Given the description of an element on the screen output the (x, y) to click on. 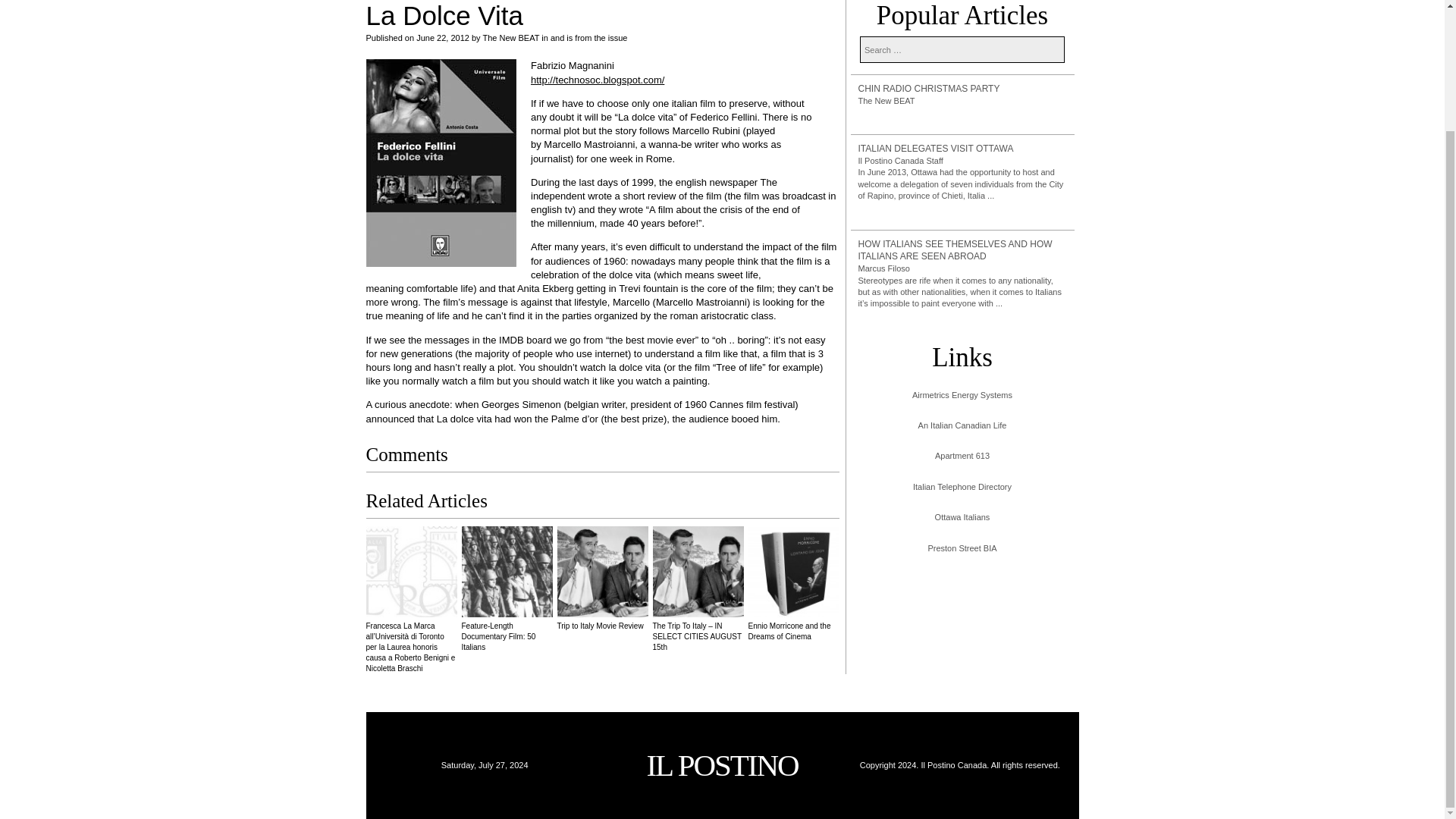
Airmetrics Energy Systems (962, 395)
ITALIAN DELEGATES VISIT OTTAWA (963, 148)
Apartment 613 (962, 455)
HOW ITALIANS SEE THEMSELVES AND HOW ITALIANS ARE SEEN ABROAD (963, 250)
Marcus Filoso (884, 267)
Preston Street BIA (962, 548)
La dolce vita (440, 162)
Feature-Length Documentary Film: 50 Italians (506, 588)
CHIN RADIO CHRISTMAS PARTY (963, 88)
Ennio Morricone and the Dreams of Cinema (793, 583)
June 22, 2012 (442, 37)
Italian Telephone Directory (962, 487)
Trip to Italy Movie Review (601, 577)
The New BEAT (887, 100)
